Given the description of an element on the screen output the (x, y) to click on. 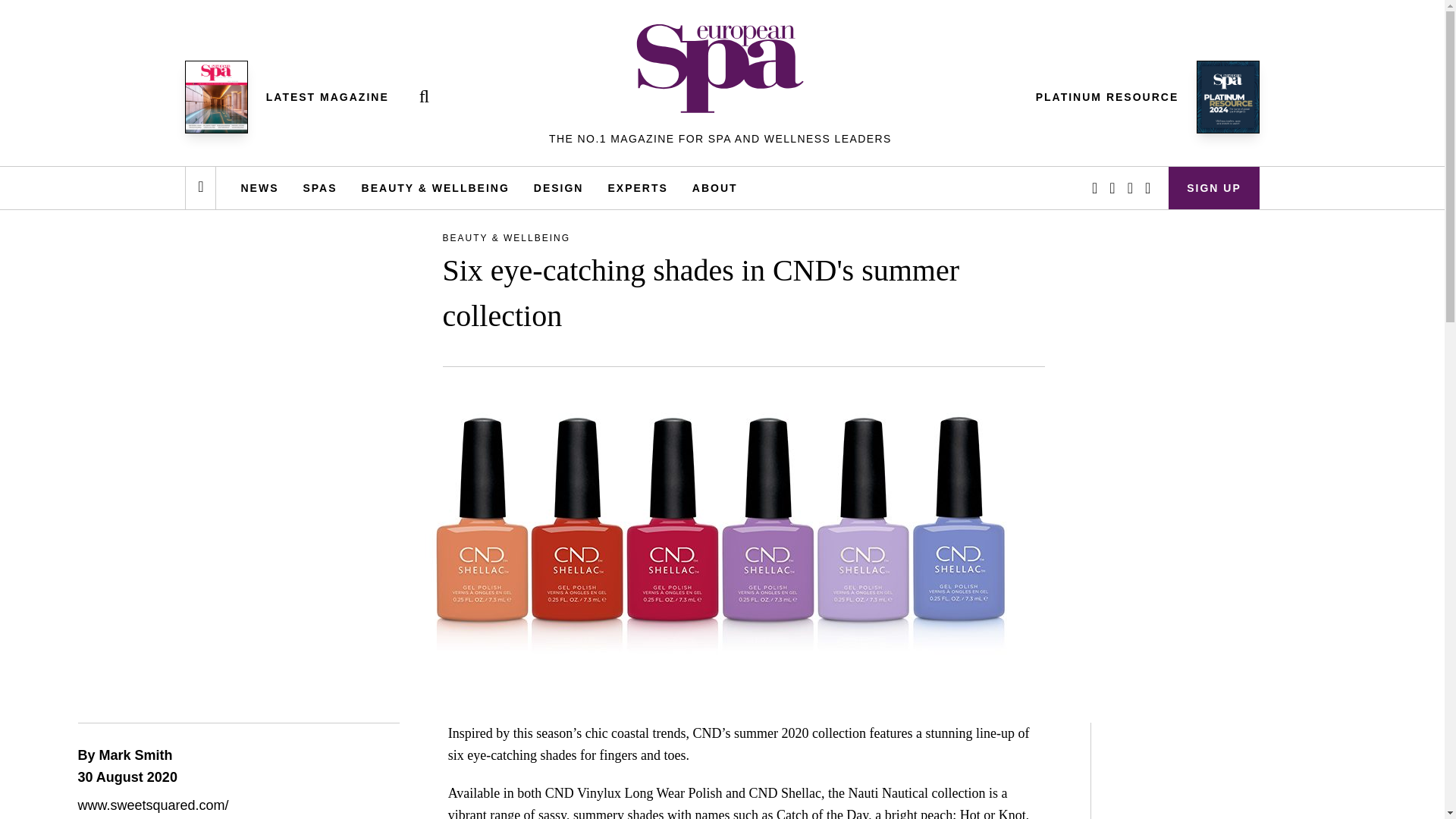
News (258, 188)
PLATINUM RESOURCE (1107, 97)
ABOUT (714, 188)
EXPERTS (637, 188)
About (714, 188)
Design (558, 188)
LATEST MAGAZINE (327, 97)
Spas (319, 188)
NEWS (258, 188)
SIGN UP (1214, 188)
